Given the description of an element on the screen output the (x, y) to click on. 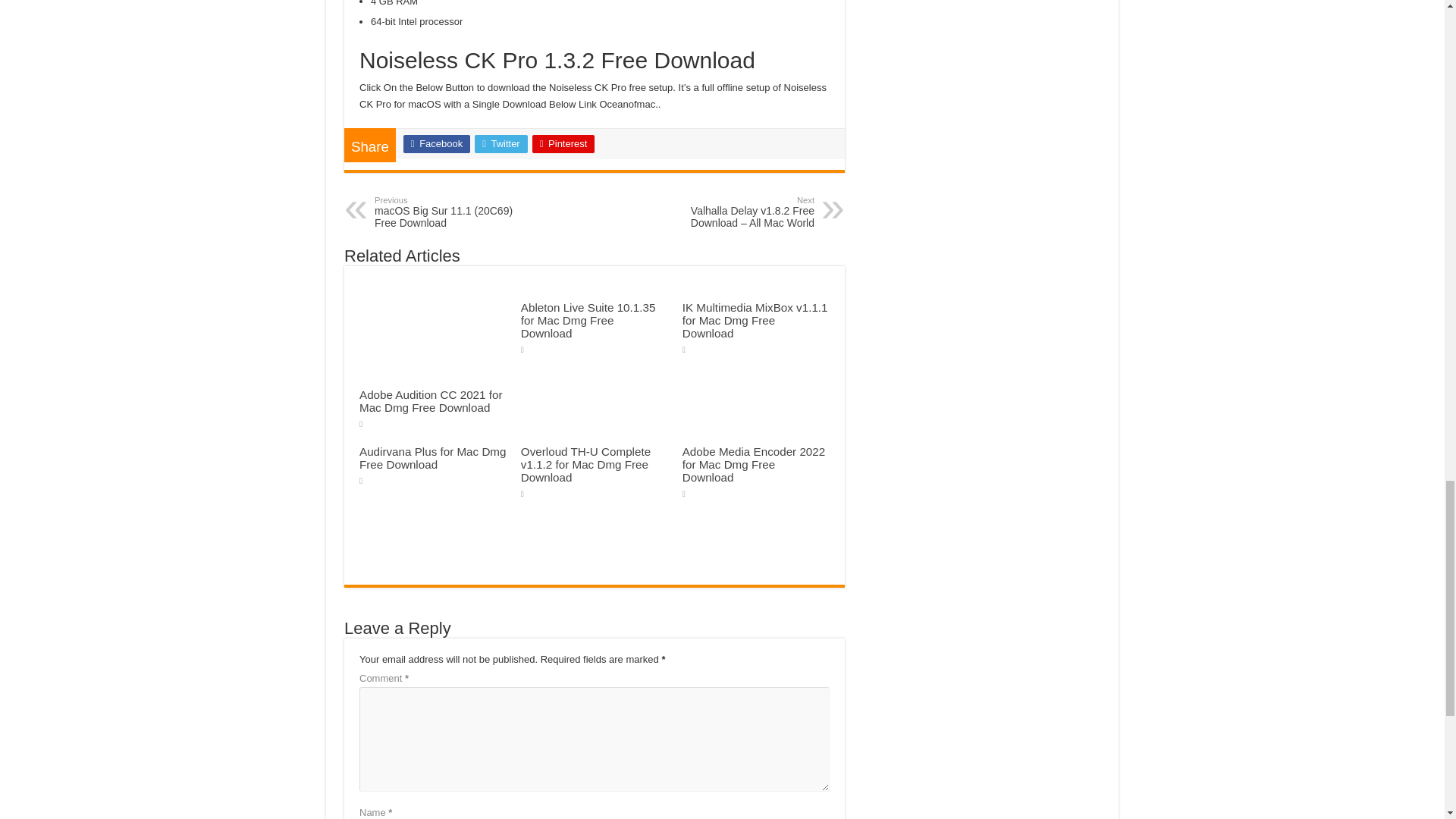
Audirvana Plus for Mac Dmg Free Download (432, 457)
Pinterest (563, 144)
Adobe Audition CC 2021 for Mac Dmg Free Download (430, 401)
Twitter (500, 144)
Ableton Live Suite 10.1.35 for Mac Dmg Free Download (588, 320)
IK Multimedia MixBox v1.1.1 for Mac Dmg Free Download (755, 320)
Facebook (436, 144)
